Given the description of an element on the screen output the (x, y) to click on. 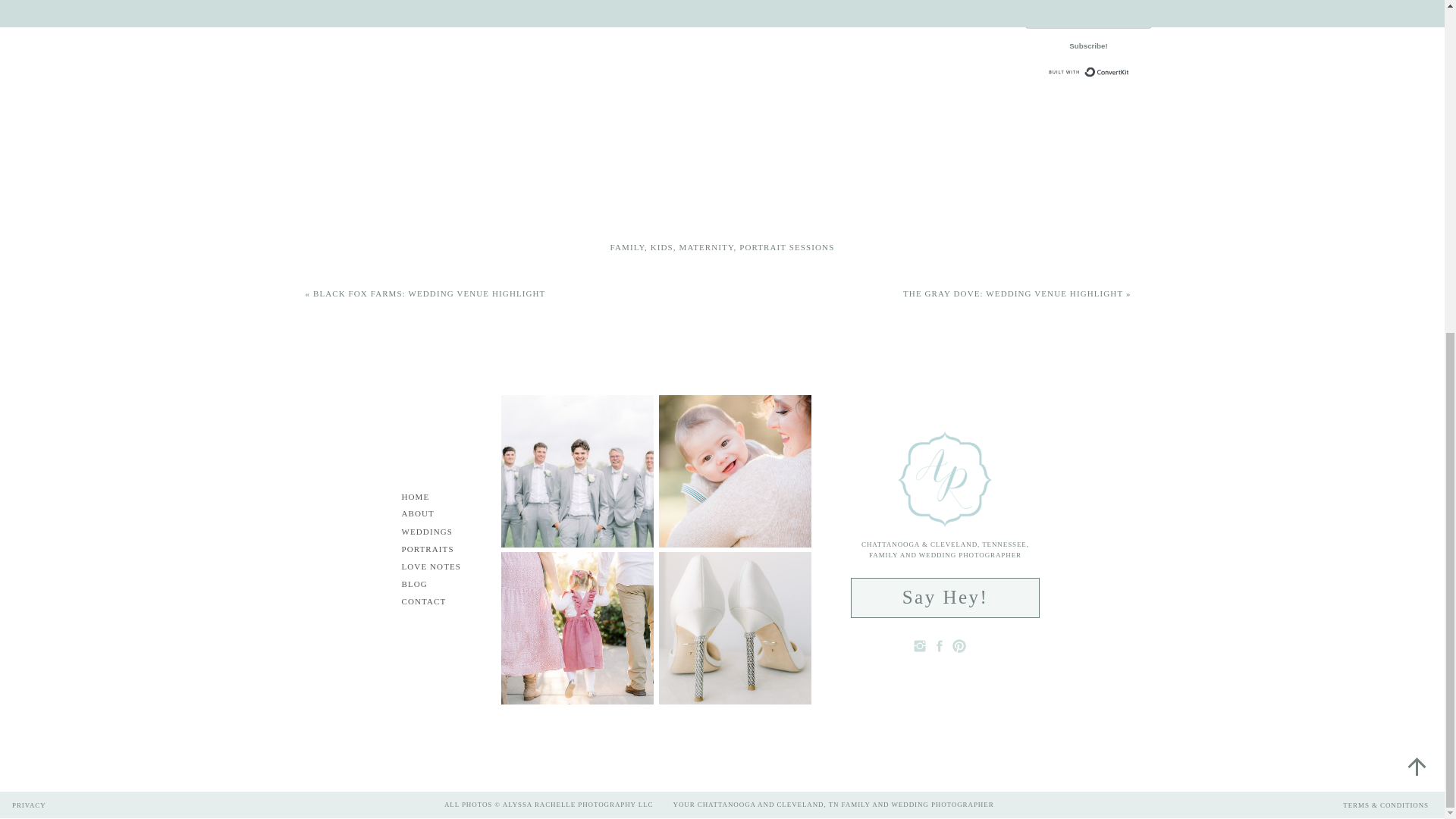
Built with ConvertKit (1109, 76)
BLACK FOX FARMS: WEDDING VENUE HIGHLIGHT (428, 293)
Subscribe! (1121, 51)
ABOUT (429, 514)
WEDDINGS (436, 532)
FAMILY (627, 246)
CONTACT (431, 602)
KIDS (661, 246)
PORTRAIT SESSIONS (786, 246)
PORTRAITS (436, 550)
LOVE NOTES (440, 566)
BLOG (426, 584)
THE GRAY DOVE: WEDDING VENUE HIGHLIGHT (1012, 293)
MATERNITY (706, 246)
HOME (425, 497)
